Given the description of an element on the screen output the (x, y) to click on. 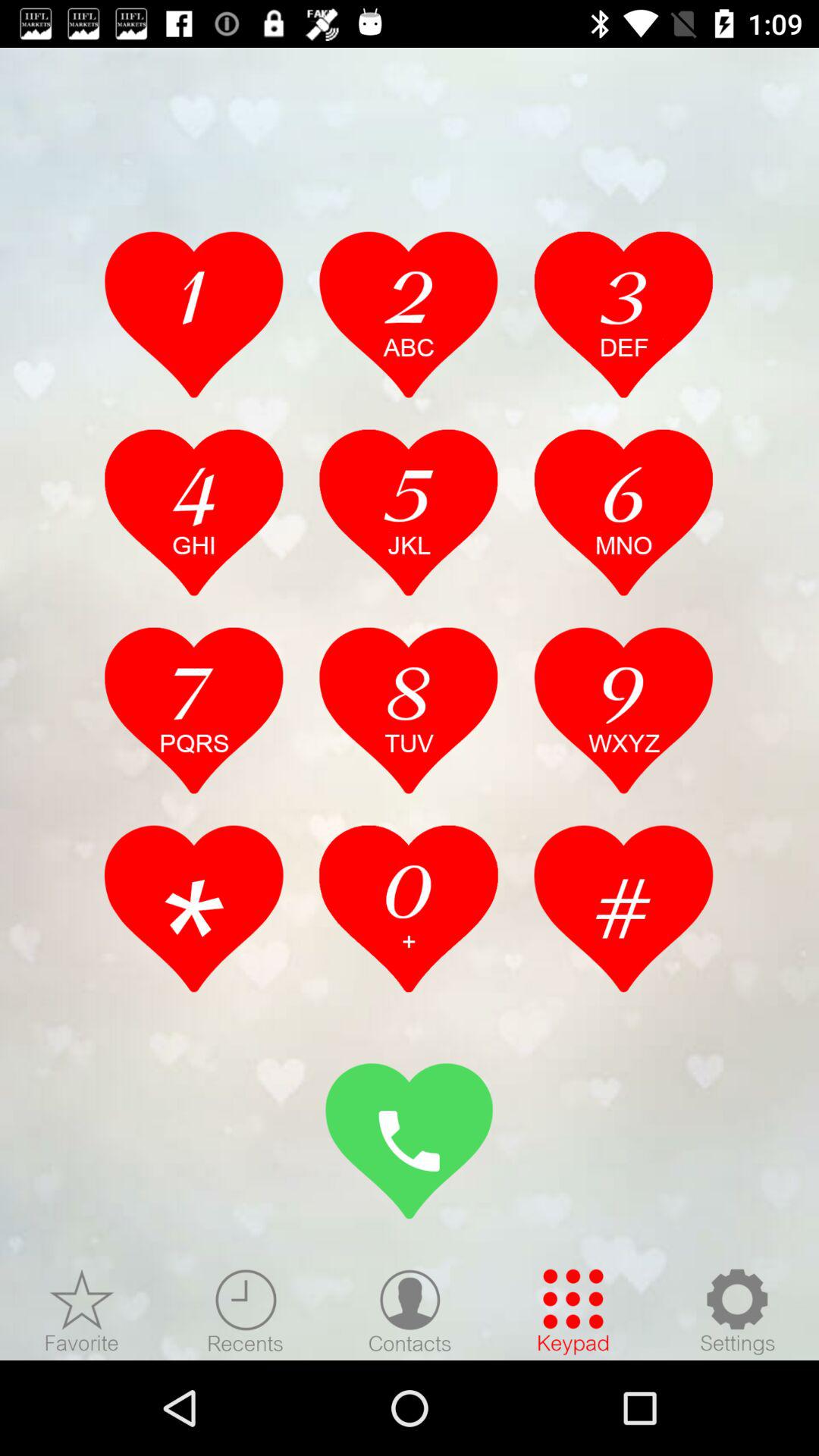
check option aash (623, 908)
